Given the description of an element on the screen output the (x, y) to click on. 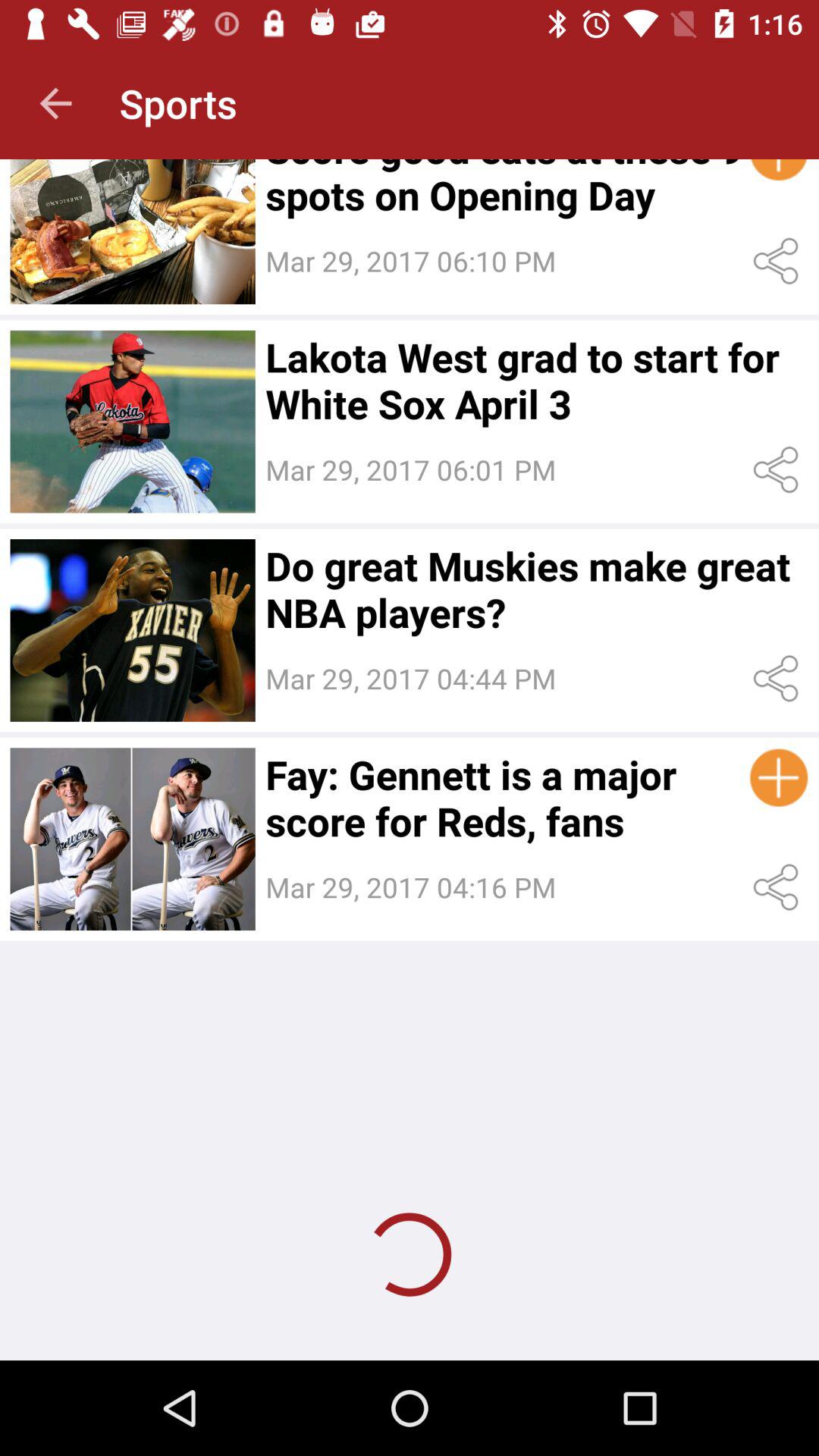
select the icon to the left of sports (55, 103)
